Given the description of an element on the screen output the (x, y) to click on. 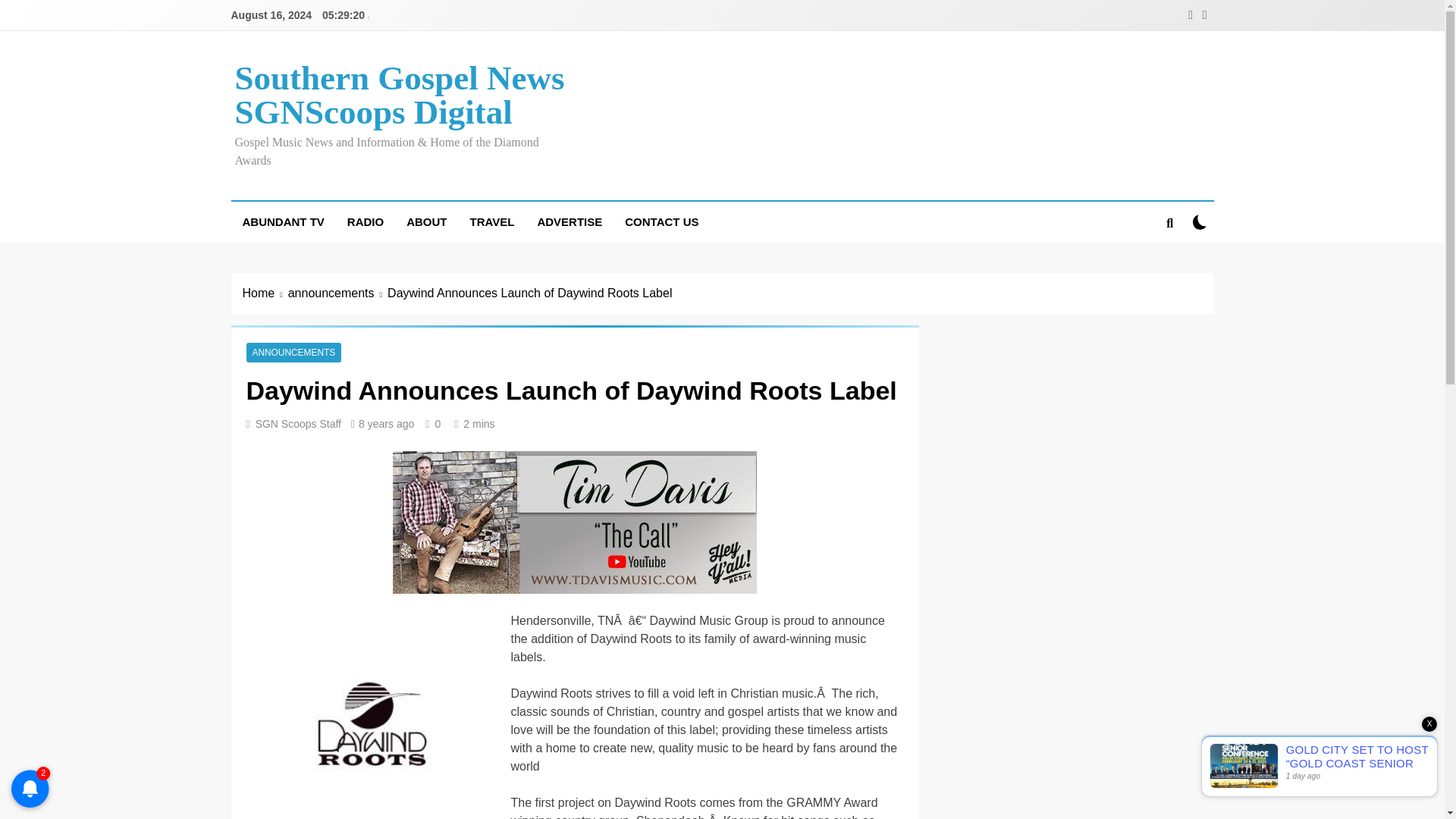
ABOUT (426, 221)
ADVERTISE (568, 221)
TRAVEL (491, 221)
 Webpushr (30, 765)
ABUNDANT TV (282, 221)
on (1199, 221)
CONTACT US (661, 221)
RADIO (365, 221)
Home (265, 293)
Southern Gospel News SGNScoops Digital (399, 94)
